Given the description of an element on the screen output the (x, y) to click on. 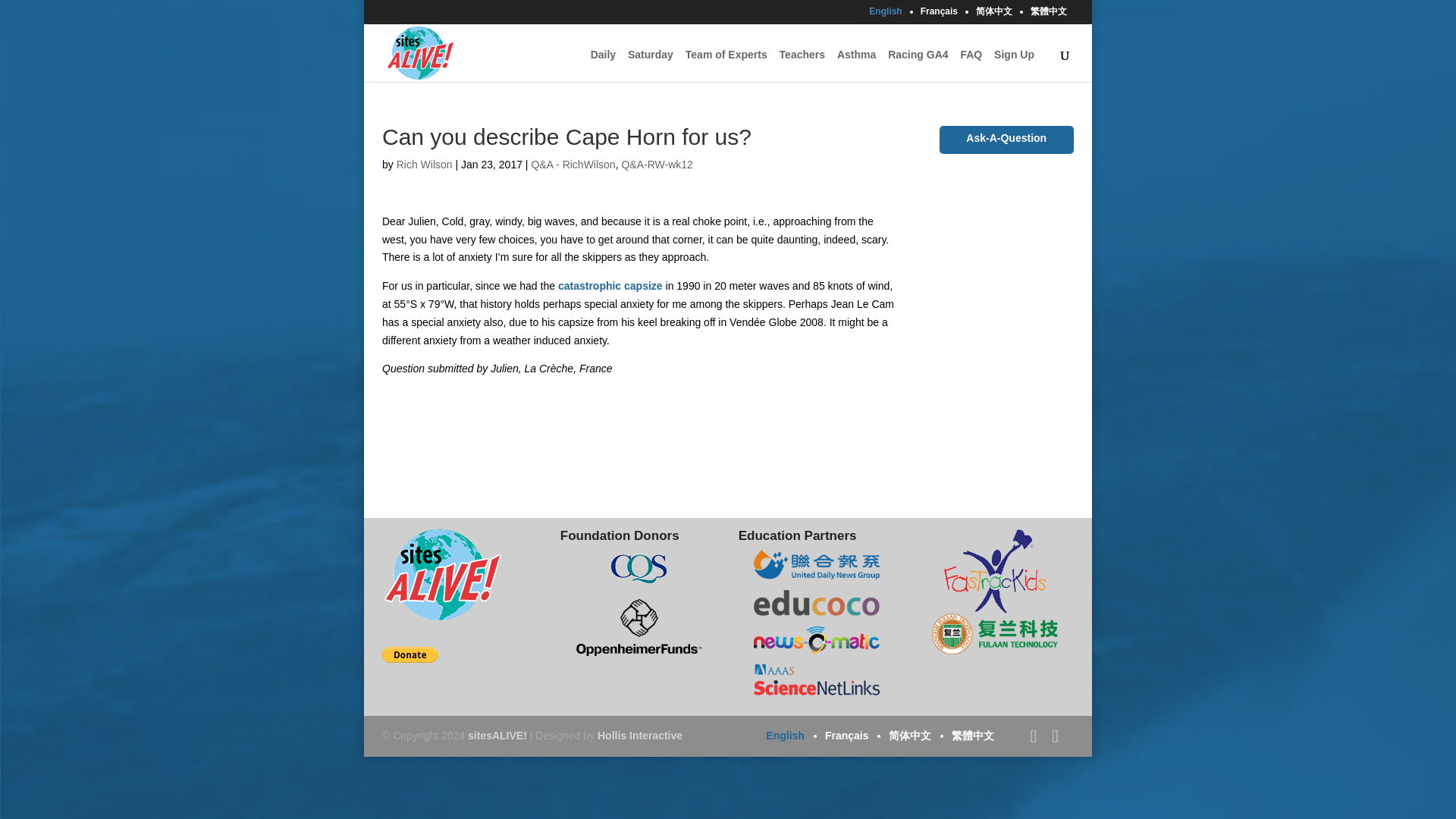
English (885, 14)
Hollis Interactive (639, 735)
Team of Experts (726, 57)
PayPal - The safer, easier way to pay online! (409, 654)
Daily (603, 57)
Saturday (649, 57)
Posts by Rich Wilson (424, 164)
